Given the description of an element on the screen output the (x, y) to click on. 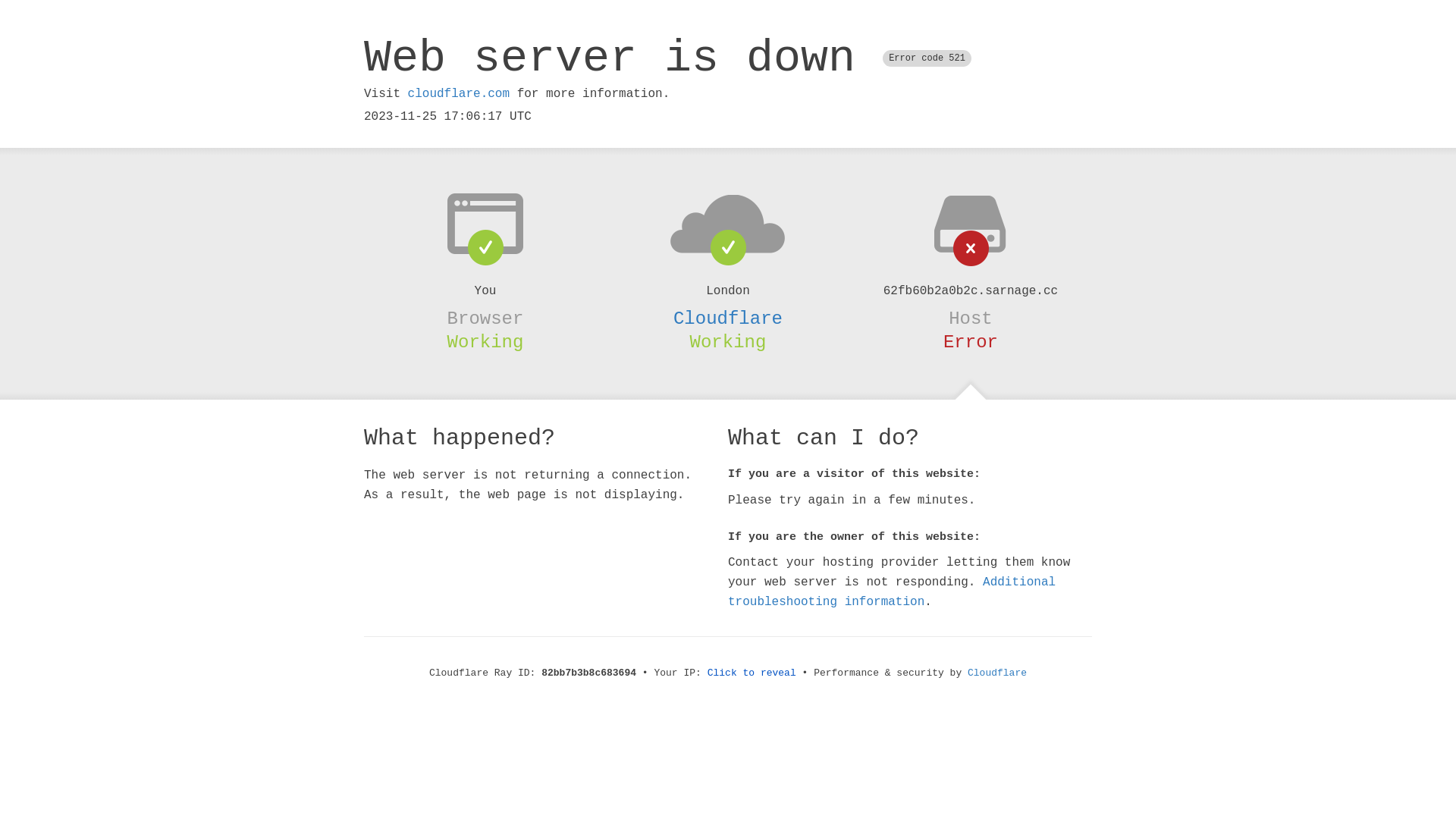
Additional troubleshooting information Element type: text (891, 591)
cloudflare.com Element type: text (458, 93)
Cloudflare Element type: text (727, 318)
Click to reveal Element type: text (751, 672)
Cloudflare Element type: text (996, 672)
